Given the description of an element on the screen output the (x, y) to click on. 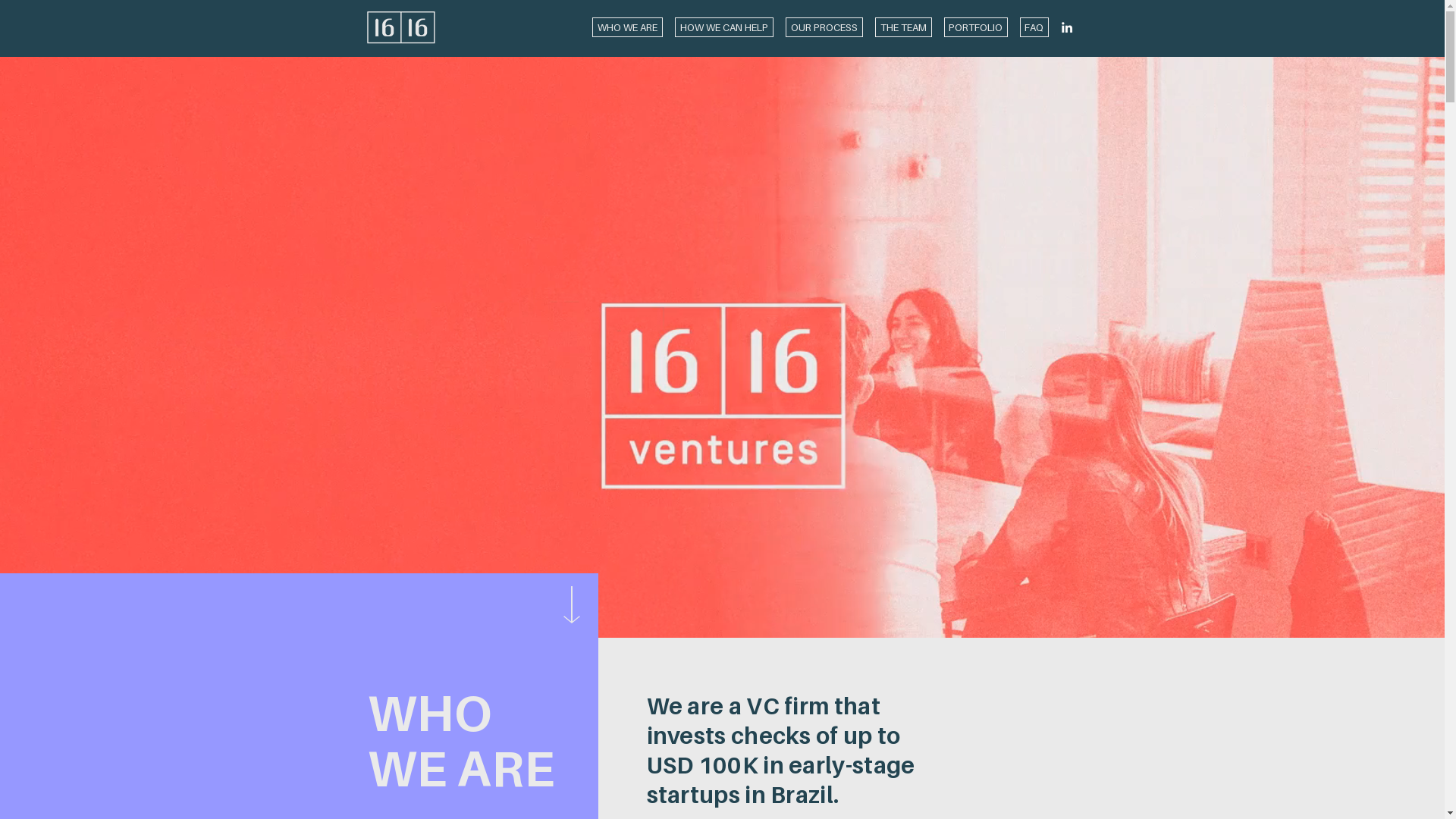
THE TEAM Element type: text (903, 27)
FAQ Element type: text (1033, 27)
WHO WE ARE Element type: text (626, 27)
TWIPLA (Visitor Analytics) Element type: hover (1442, 4)
HOW WE CAN HELP Element type: text (723, 27)
PORTFOLIO Element type: text (975, 27)
OUR PROCESS Element type: text (823, 27)
